Given the description of an element on the screen output the (x, y) to click on. 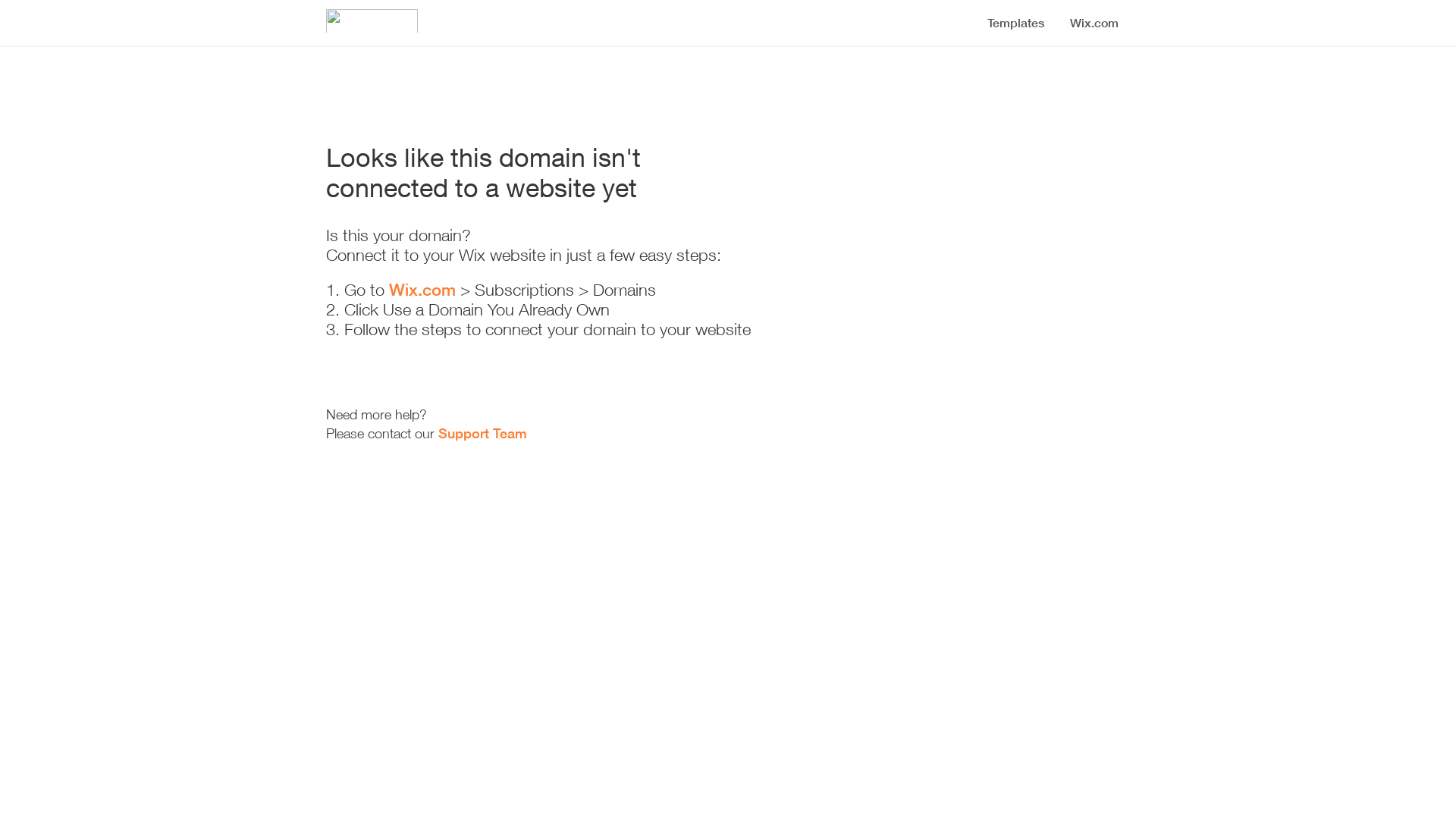
Wix.com Element type: text (422, 289)
Support Team Element type: text (482, 432)
